Given the description of an element on the screen output the (x, y) to click on. 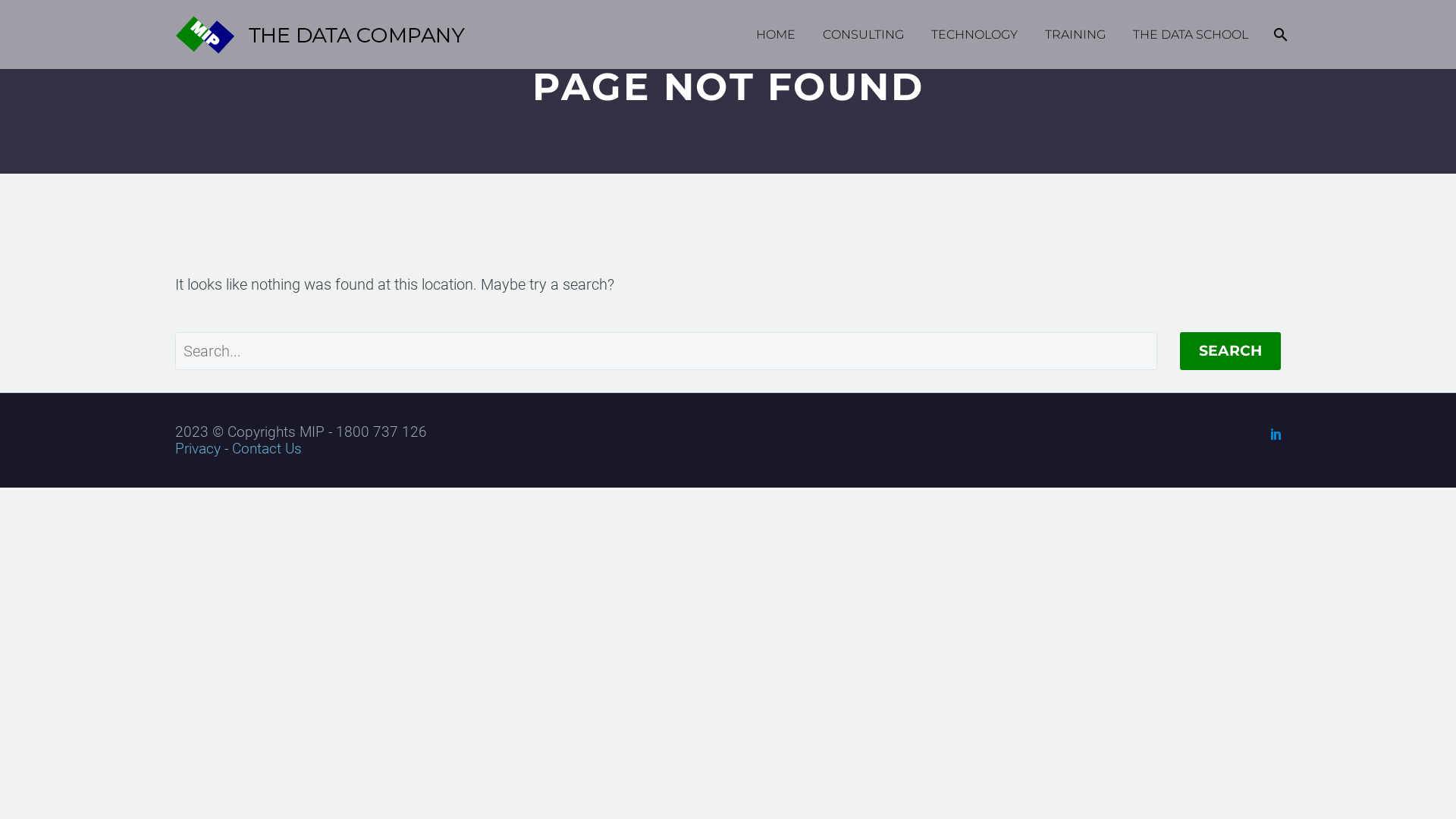
HOME Element type: text (775, 34)
SEARCH Element type: text (1229, 351)
THE DATA SCHOOL Element type: text (1190, 34)
TECHNOLOGY Element type: text (974, 34)
LinkedIn Element type: hover (1276, 433)
s Element type: text (1427, 115)
Privacy Element type: text (197, 448)
Contact Us Element type: text (266, 448)
CONSULTING Element type: text (863, 34)
TRAINING Element type: text (1075, 34)
